Given the description of an element on the screen output the (x, y) to click on. 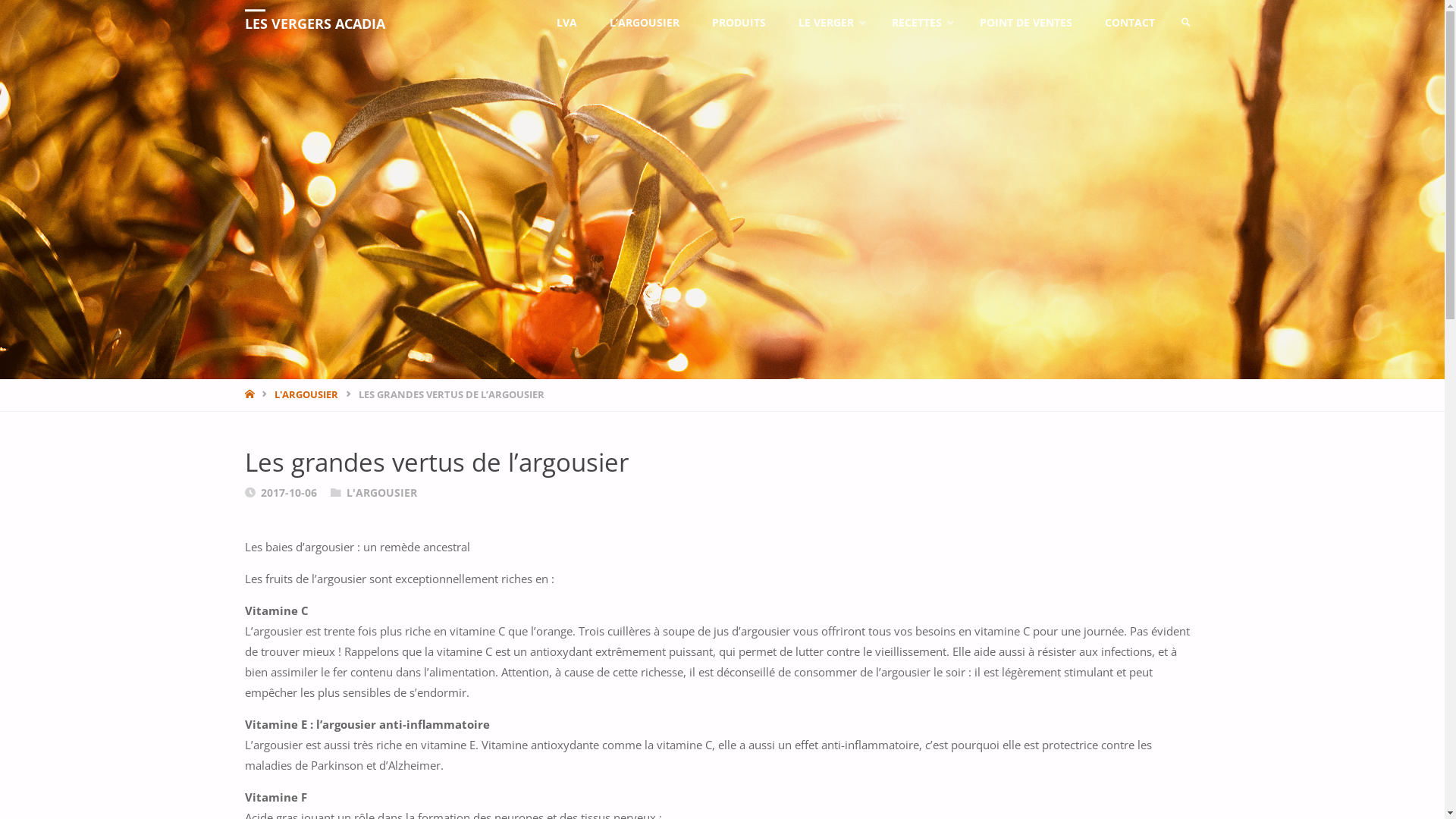
RECETTES Element type: text (919, 22)
LE VERGER Element type: text (828, 22)
L'ARGOUSIER Element type: text (306, 394)
CONTACT Element type: text (1129, 22)
SEARCH Element type: text (1185, 22)
LES VERGERS ACADIA Element type: text (314, 22)
PRODUITS Element type: text (738, 22)
POINT DE VENTES Element type: text (1025, 22)
L'ARGOUSIER Element type: text (381, 492)
HOME Element type: text (250, 394)
Date Element type: hover (249, 492)
Categories Element type: hover (335, 492)
LVA Element type: text (566, 22)
